Given the description of an element on the screen output the (x, y) to click on. 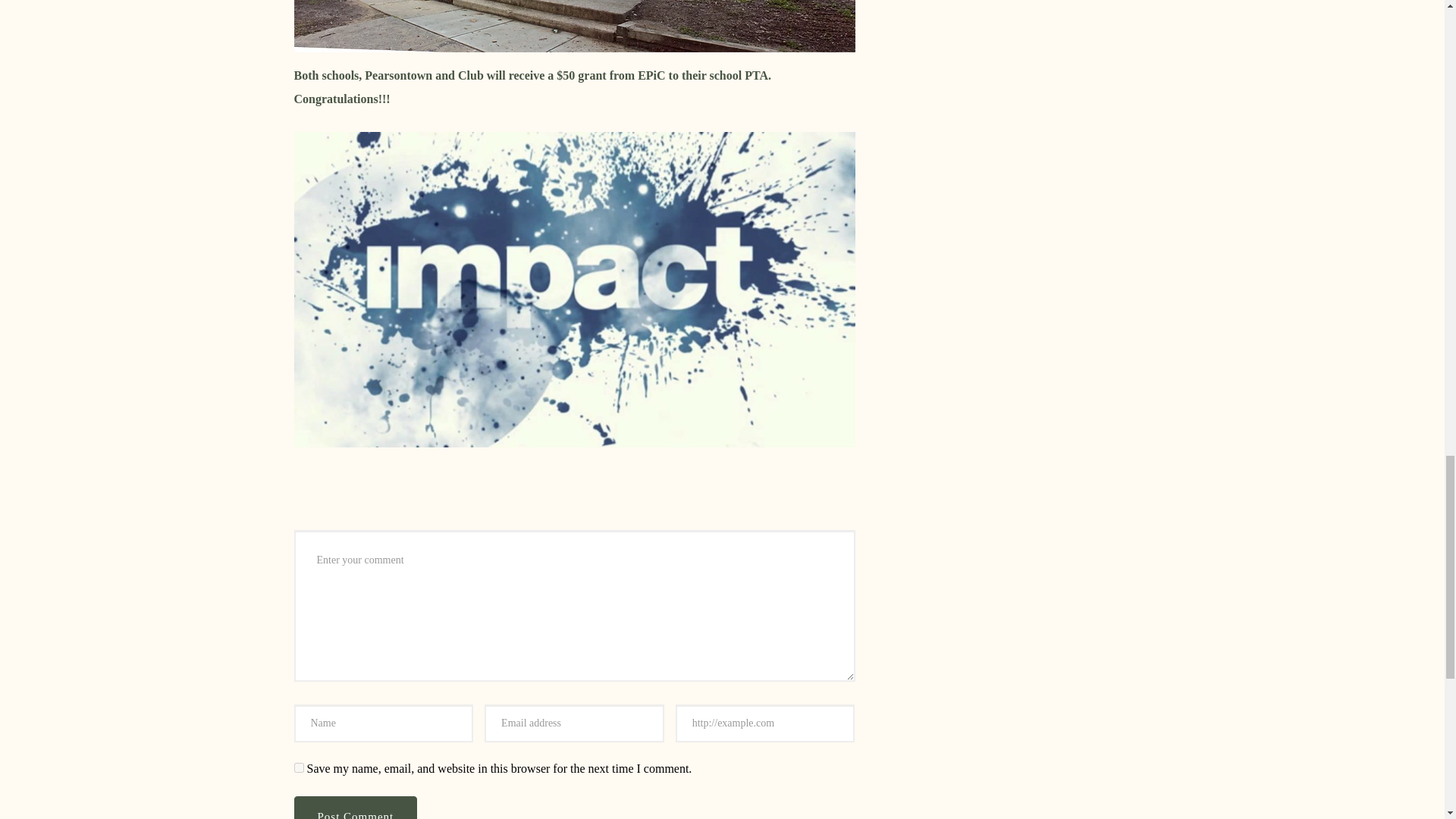
yes (299, 767)
Post Comment (355, 807)
